Given the description of an element on the screen output the (x, y) to click on. 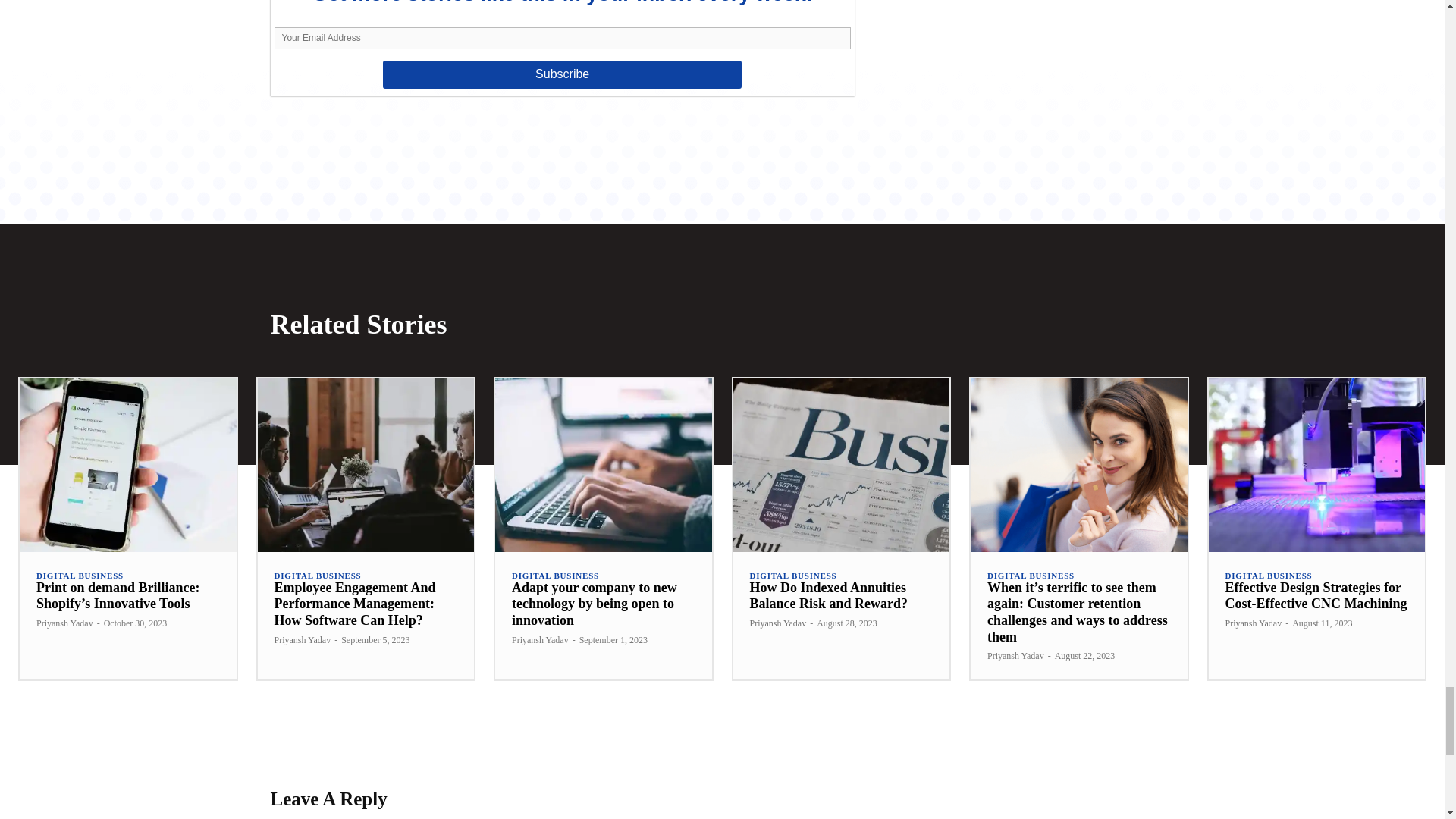
Subscribe (561, 74)
